Given the description of an element on the screen output the (x, y) to click on. 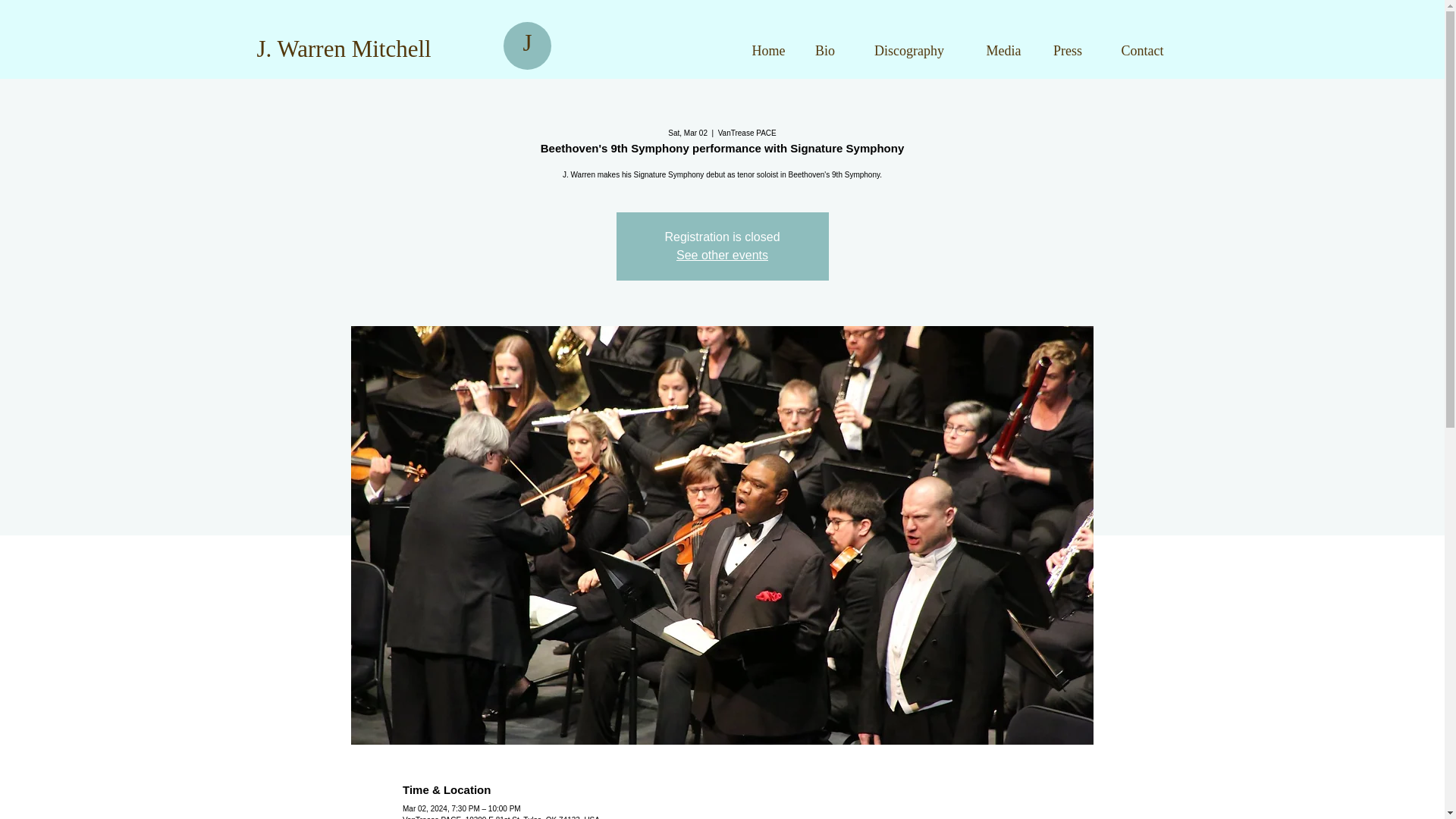
Bio (824, 50)
J (526, 42)
Discography (908, 50)
See other events (722, 254)
J. Warren Mitchell (343, 49)
Home (767, 50)
Contact (1142, 50)
